Given the description of an element on the screen output the (x, y) to click on. 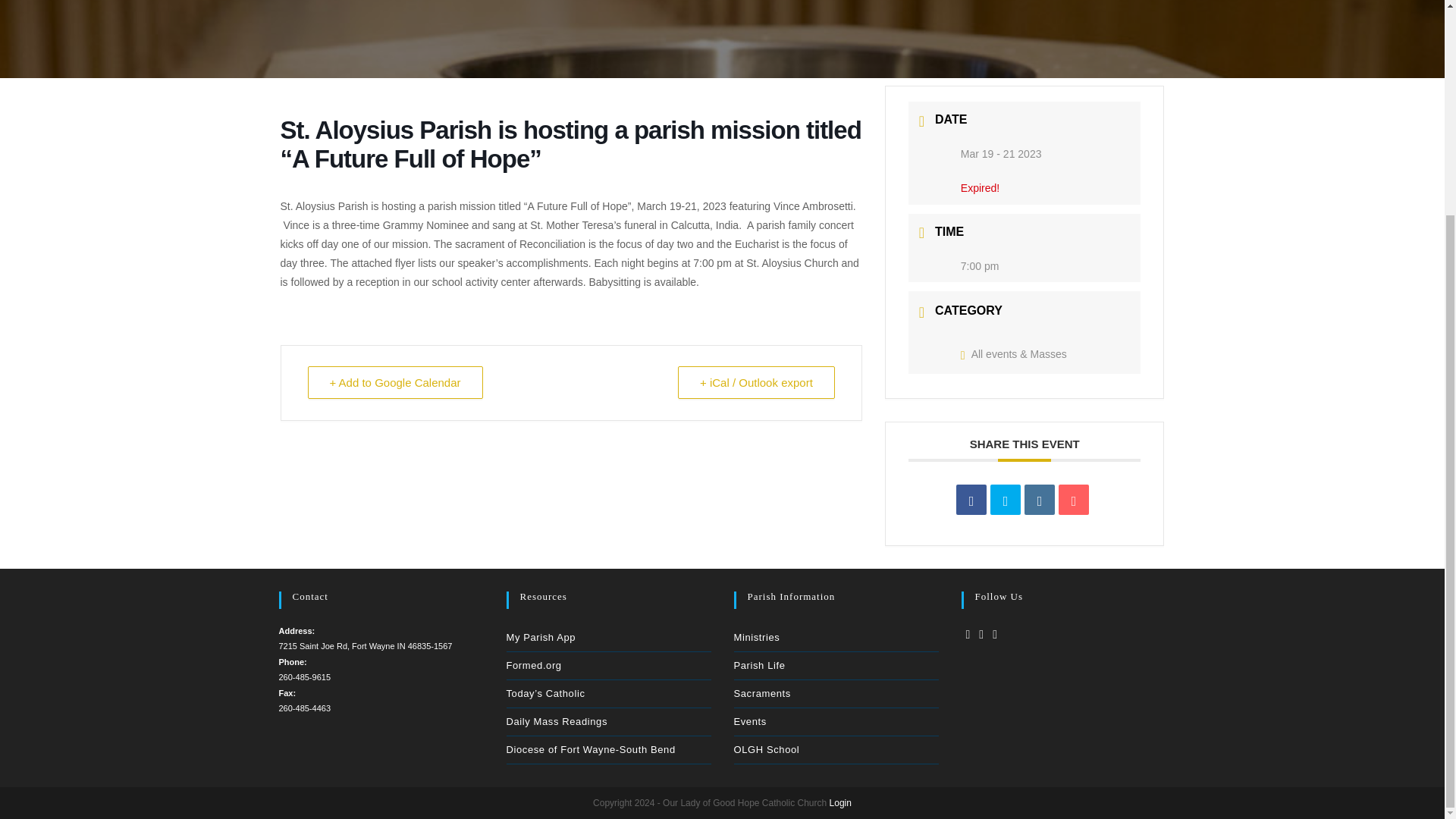
Linkedin (1039, 499)
Email (1073, 499)
Share on Facebook (971, 499)
Tweet (1005, 499)
